Given the description of an element on the screen output the (x, y) to click on. 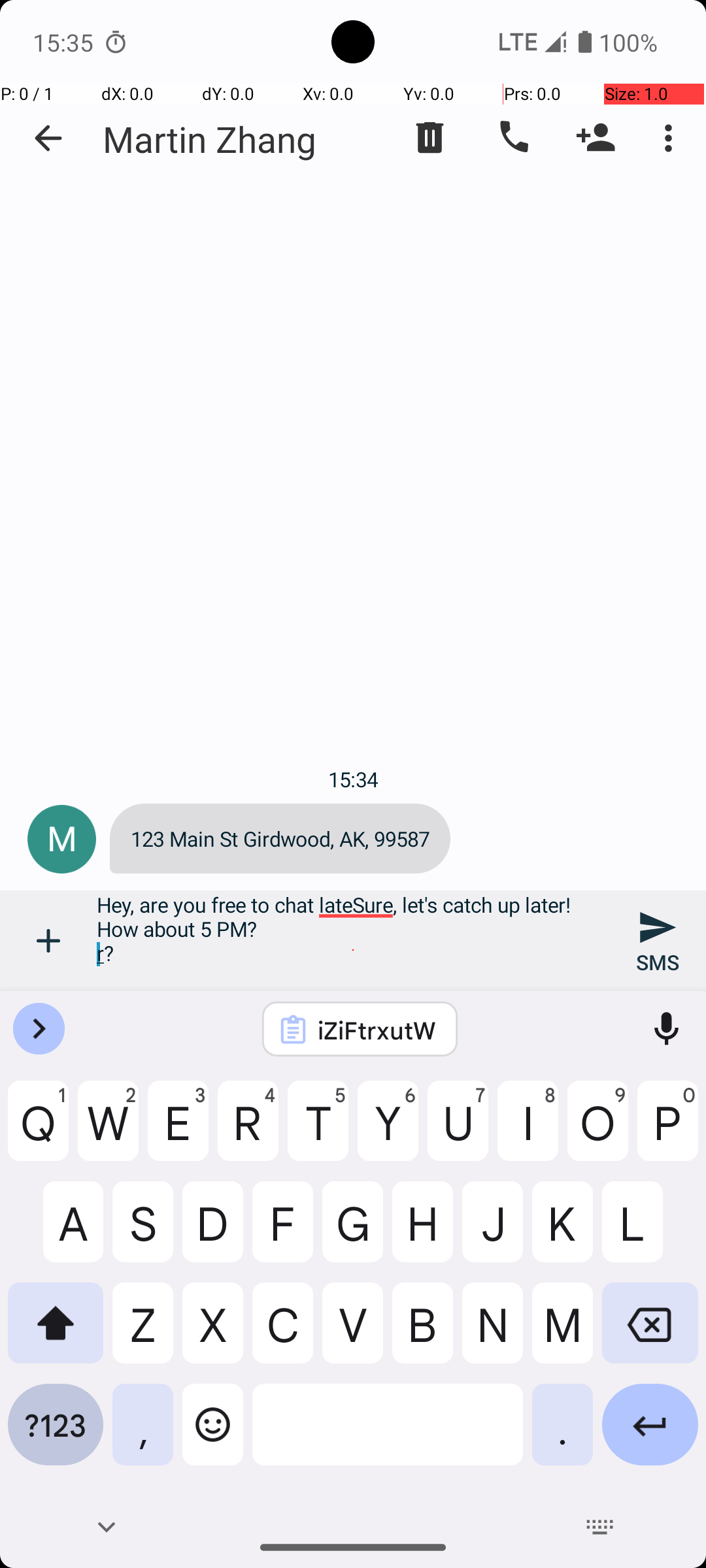
Martin Zhang Element type: android.widget.TextView (209, 138)
Hey, are you free to chat lateSure, let's catch up later! How about 5 PM?
r?
 Element type: android.widget.EditText (352, 940)
123 Main St Girdwood, AK, 99587 Element type: android.widget.TextView (279, 838)
iZiFtrxutW Element type: android.widget.TextView (376, 1029)
